Given the description of an element on the screen output the (x, y) to click on. 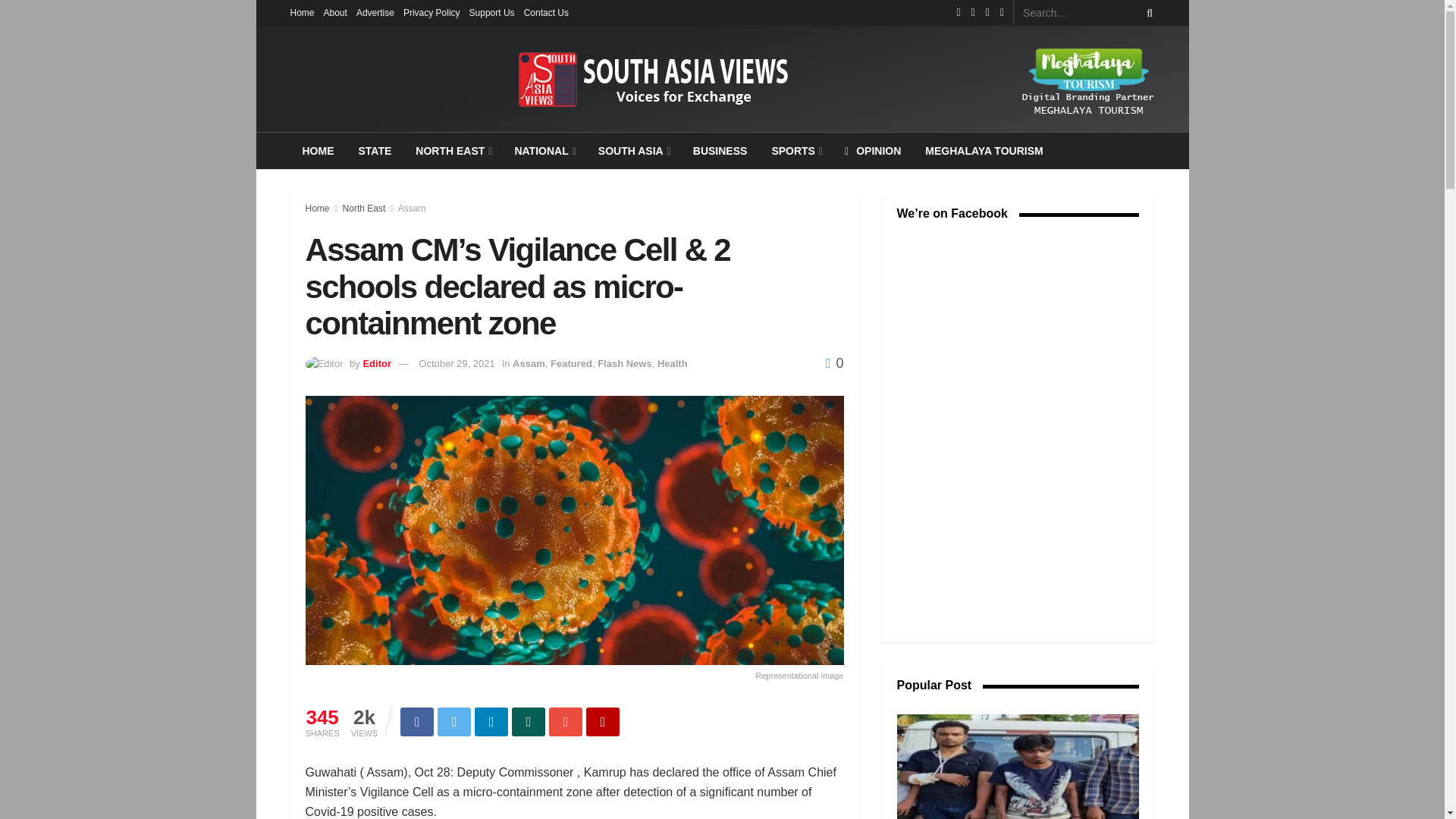
STATE (374, 150)
HOME (317, 150)
Support Us (491, 12)
About (335, 12)
NORTH EAST (452, 150)
Advertise (375, 12)
Privacy Policy (431, 12)
Contact Us (546, 12)
Home (301, 12)
